Given the description of an element on the screen output the (x, y) to click on. 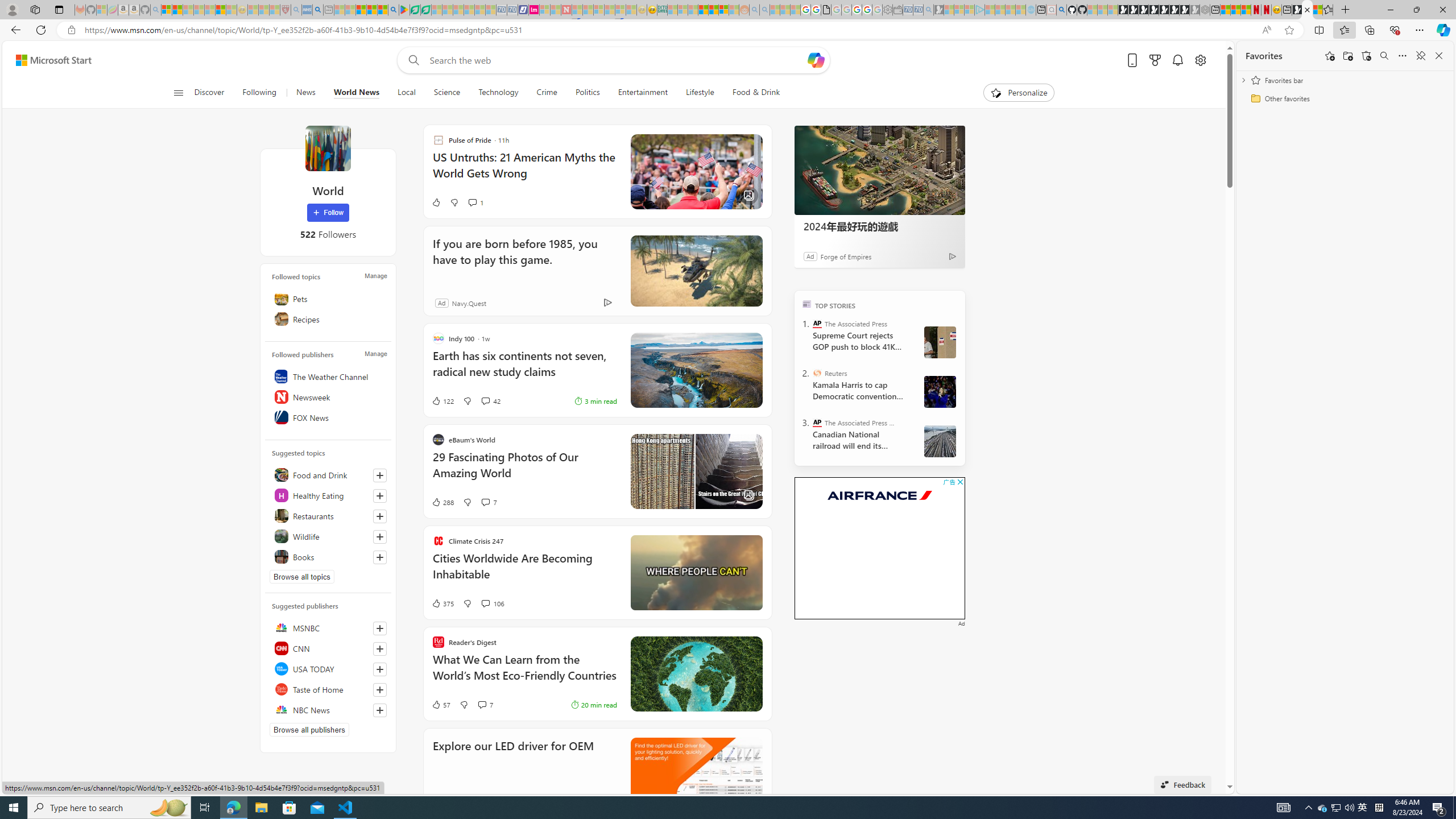
Microsoft Word - consumer-privacy address update 2.2021 (426, 9)
Entertainment (642, 92)
375 Like (442, 603)
Follow (328, 212)
View comments 106 Comment (492, 603)
Robert H. Shmerling, MD - Harvard Health - Sleeping (285, 9)
If you are born before 1985, you have to play this game. (696, 270)
Settings - Sleeping (886, 9)
The Weather Channel (327, 376)
